Given the description of an element on the screen output the (x, y) to click on. 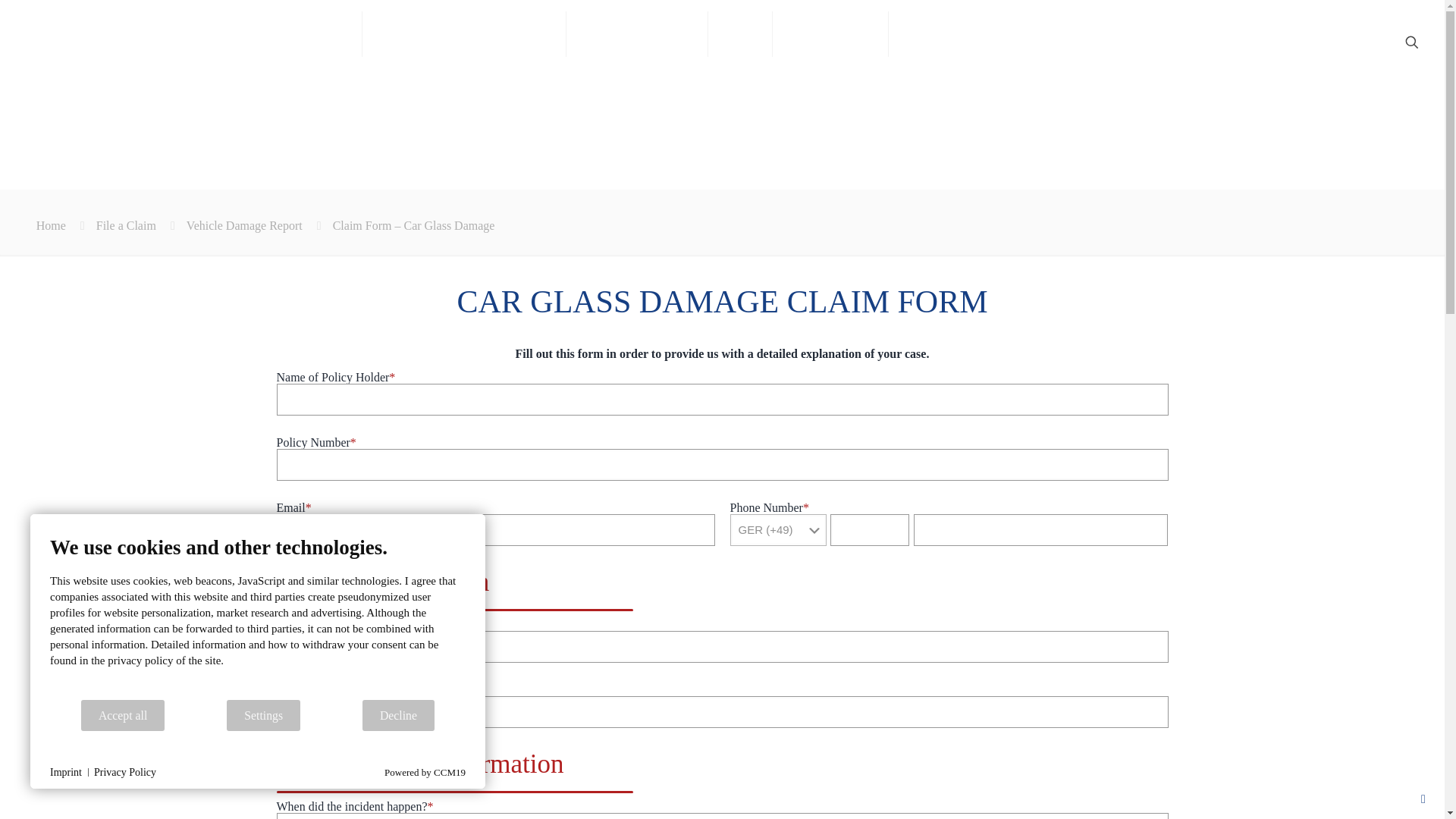
MIRASCON (101, 41)
GOING HOME (636, 33)
File a Claim (125, 225)
Home (50, 225)
CONTACT (943, 33)
OUR PRODUCTS (279, 33)
ABOUT US (830, 33)
FAQ (740, 33)
Vehicle Damage Report (244, 225)
FIND A LOCAL AGENT (464, 33)
